Given the description of an element on the screen output the (x, y) to click on. 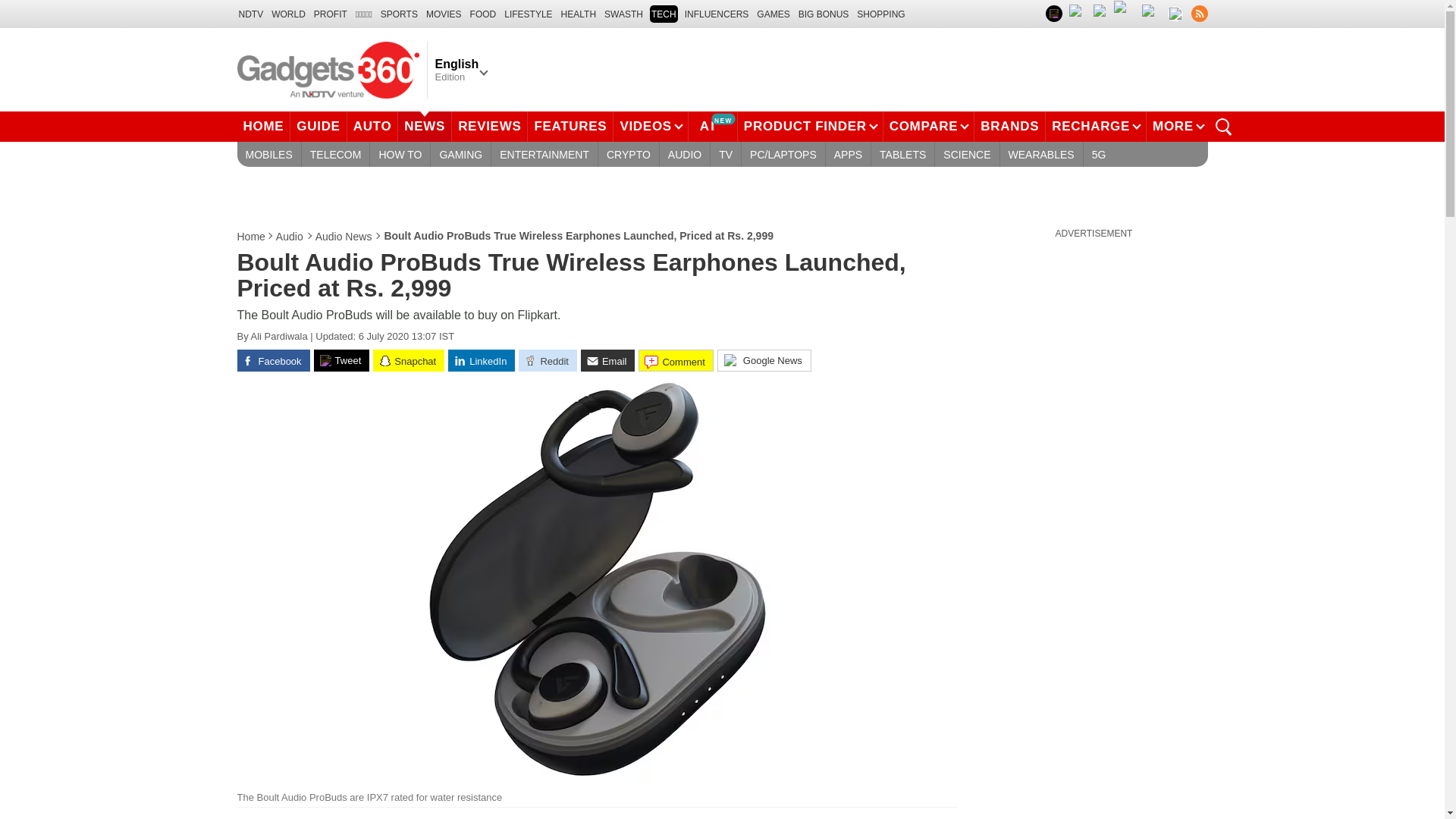
NDTV (249, 13)
NDTV (249, 13)
BIG BONUS (823, 13)
World (288, 13)
SWASTH (623, 13)
Big Bonus (823, 13)
TECH (663, 13)
SHOPPING (880, 13)
Games (772, 13)
WORLD (288, 13)
